Given the description of an element on the screen output the (x, y) to click on. 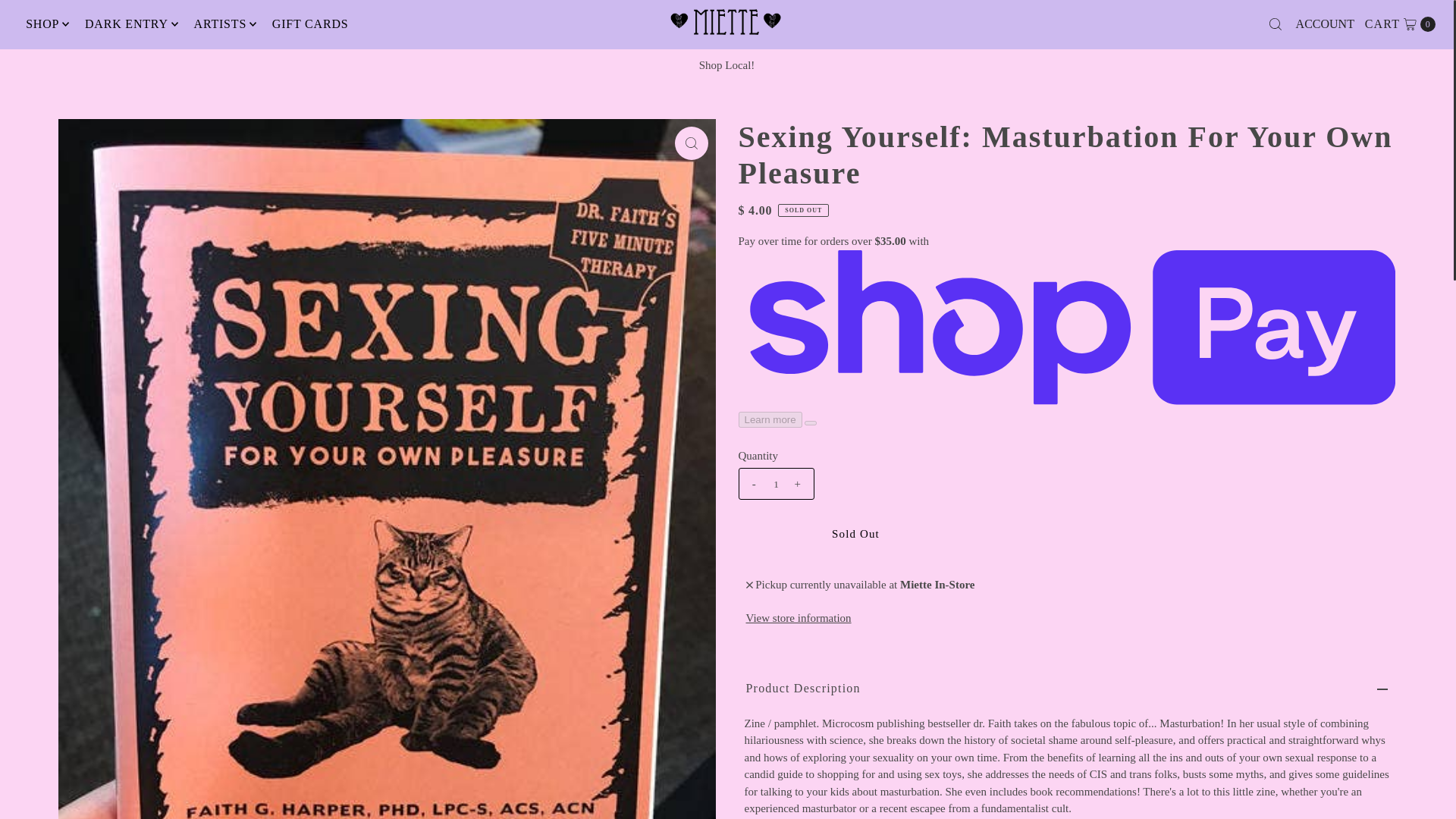
SHOP (41, 24)
Click to zoom (691, 142)
Sold Out (856, 533)
